Given the description of an element on the screen output the (x, y) to click on. 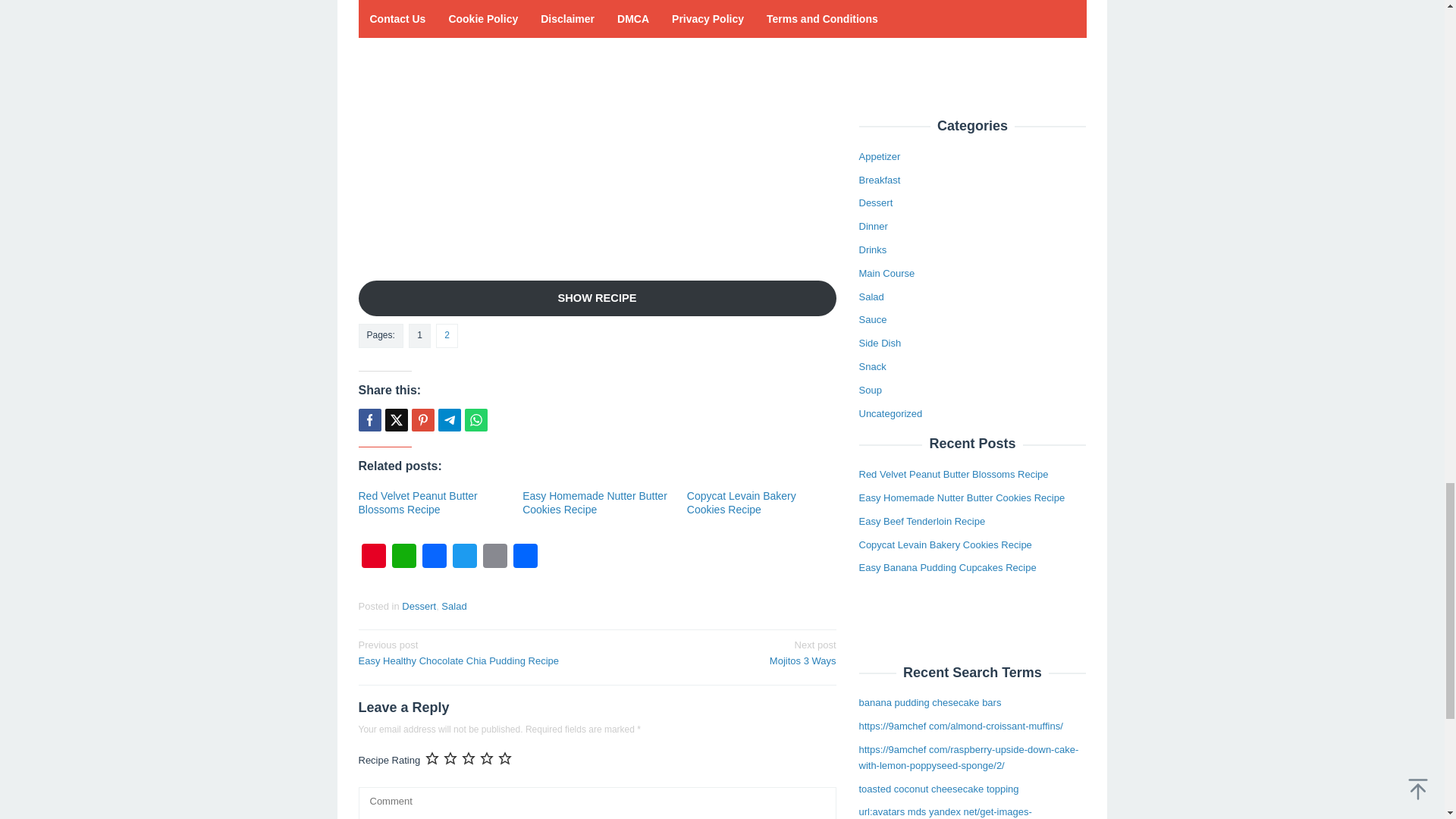
Share this (369, 419)
Pin this (421, 419)
Twitter (721, 652)
Permalink to: Easy Homemade Nutter Butter Cookies Recipe (463, 557)
Red Velvet Peanut Butter Blossoms Recipe (594, 502)
2 (472, 652)
Share (417, 502)
Telegram Share (446, 335)
Easy Homemade Nutter Butter Cookies Recipe (524, 557)
Permalink to: Red Velvet Peanut Butter Blossoms Recipe (449, 419)
WhatsApp (594, 502)
Copycat Levain Bakery Cookies Recipe (417, 502)
Dessert (403, 557)
